Given the description of an element on the screen output the (x, y) to click on. 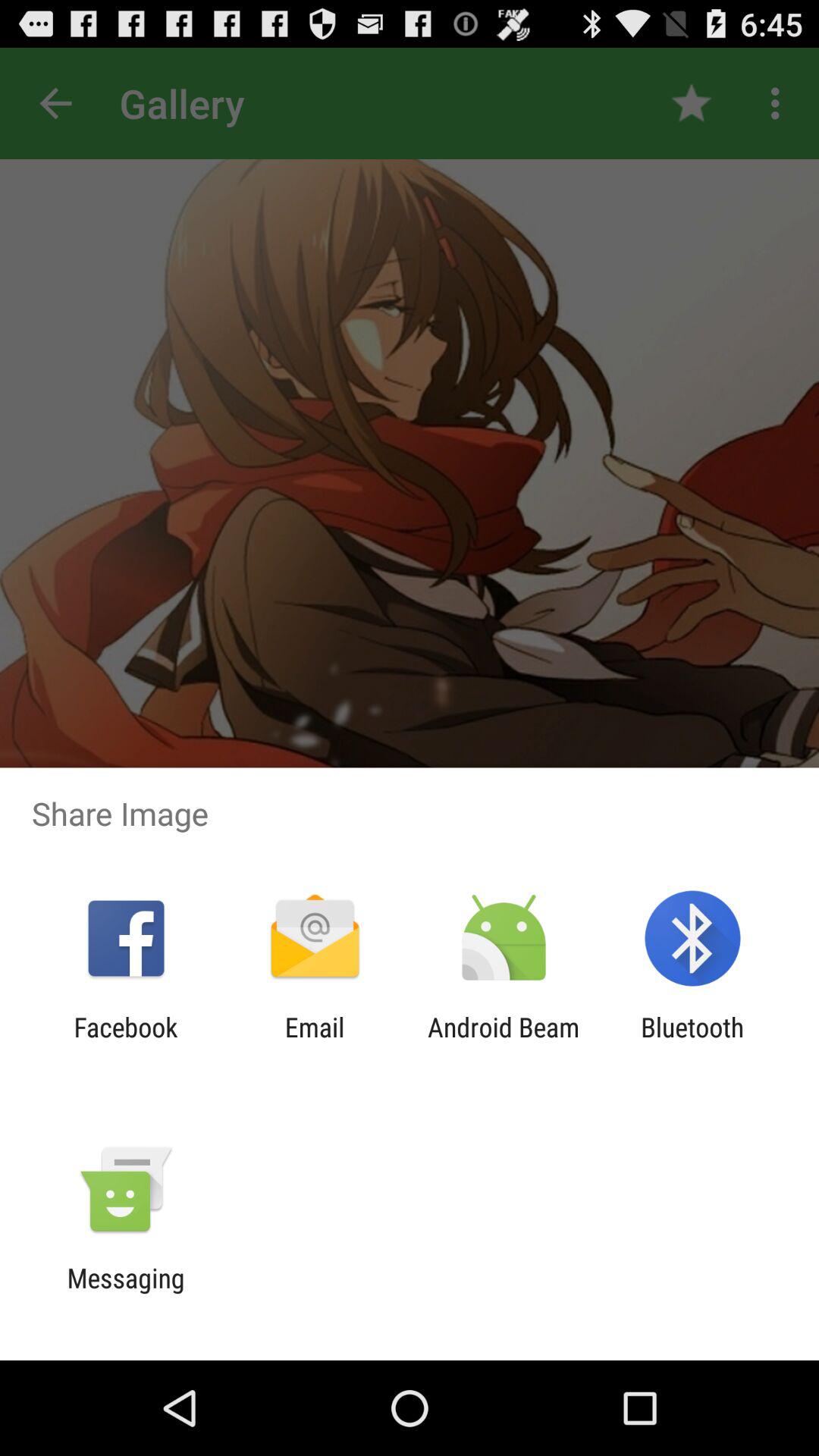
turn on item to the left of the android beam item (314, 1042)
